Given the description of an element on the screen output the (x, y) to click on. 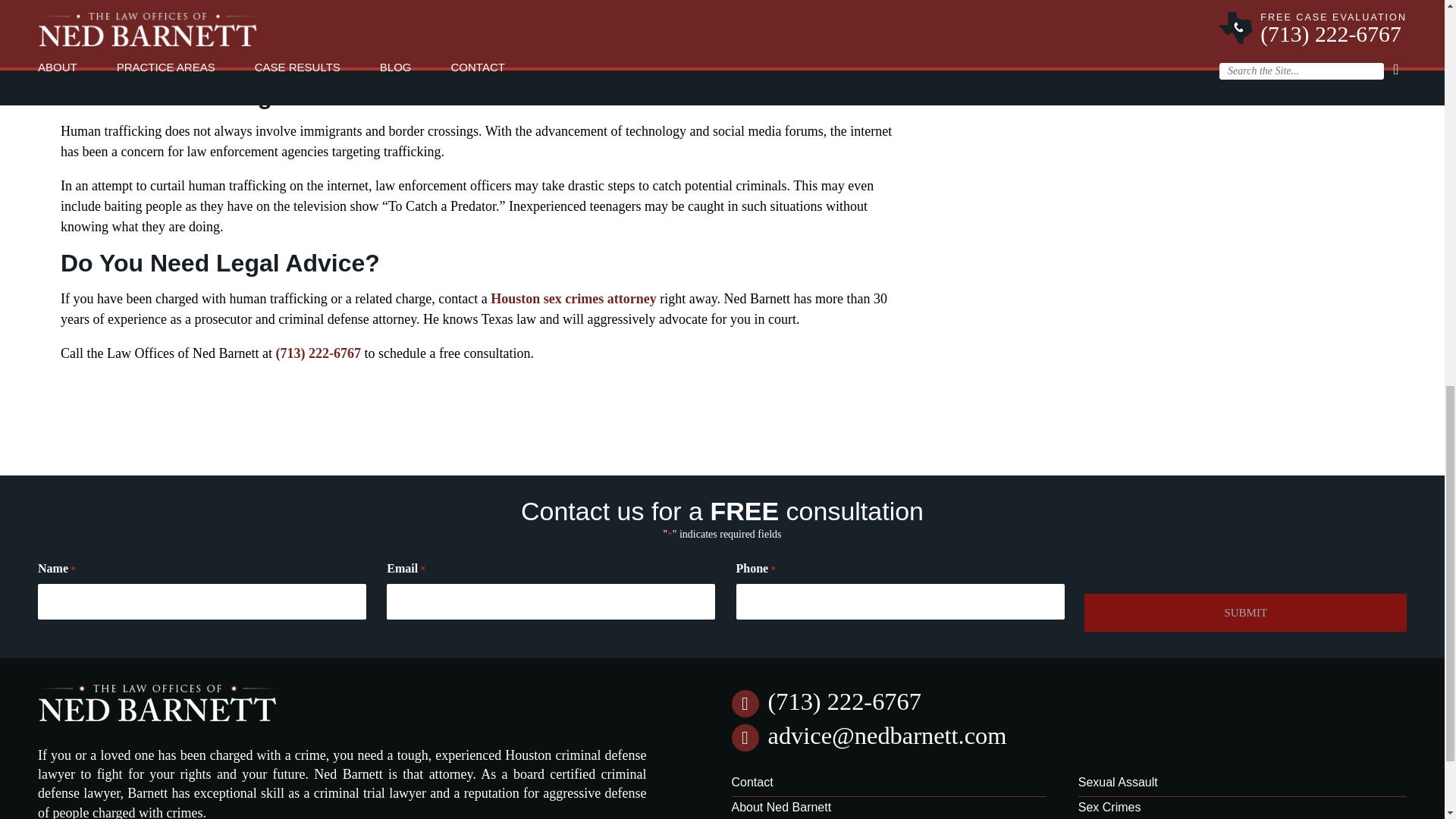
Law Offices of Ned Barnett (157, 724)
Submit (1245, 612)
Call The Law Offices of Ned Barnett Today (843, 700)
Email us today (886, 735)
Call The Law Offices of Ned Barnett Today (318, 353)
